Given the description of an element on the screen output the (x, y) to click on. 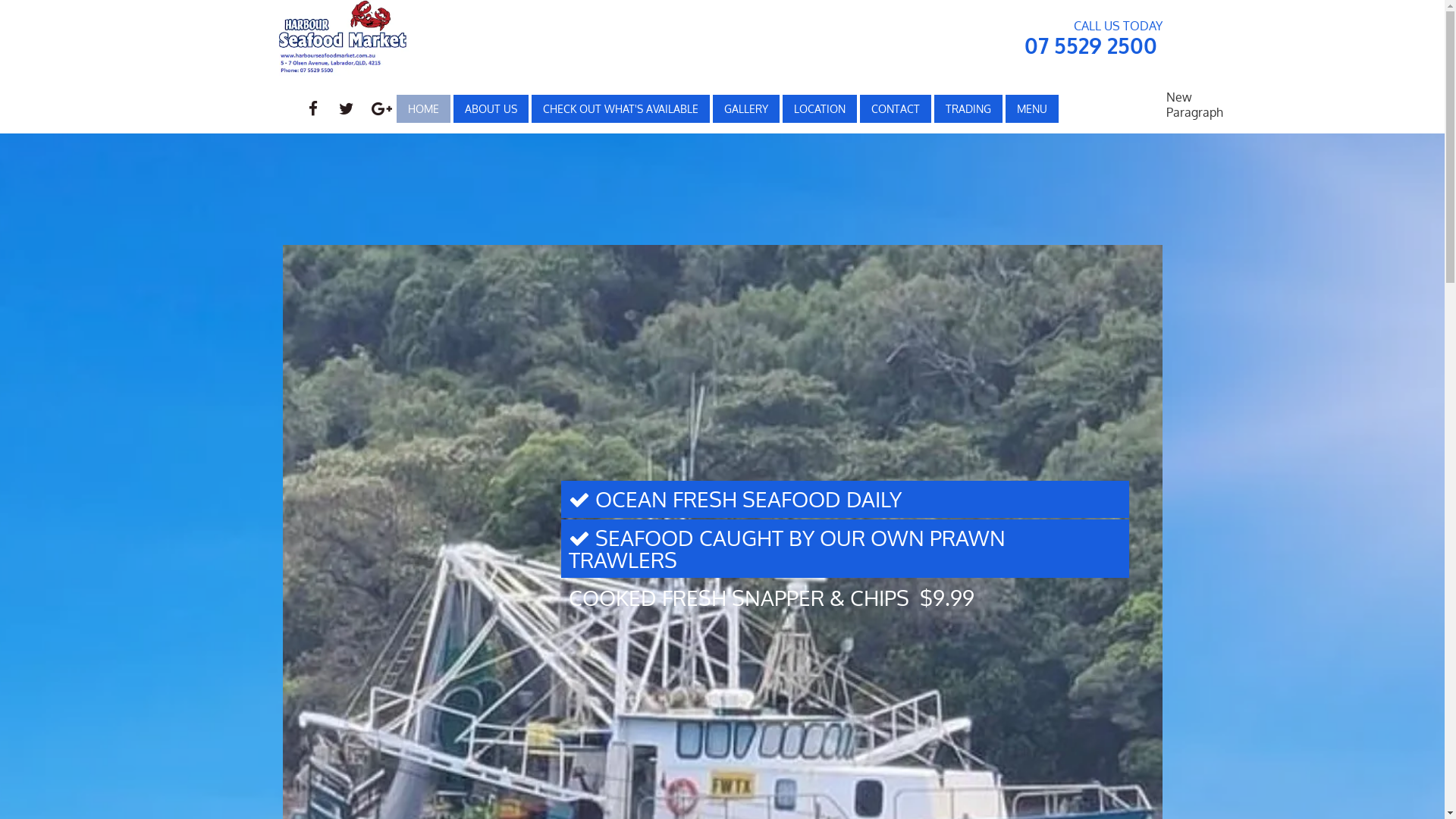
GALLERY Element type: text (745, 107)
ABOUT US Element type: text (490, 107)
MENU Element type: text (1031, 107)
LOCATION Element type: text (818, 107)
TRADING Element type: text (967, 107)
CONTACT Element type: text (894, 107)
HOME Element type: text (423, 107)
CHECK OUT WHAT'S AVAILABLE Element type: text (620, 107)
07 5529 2500 Element type: text (1089, 45)
